Given the description of an element on the screen output the (x, y) to click on. 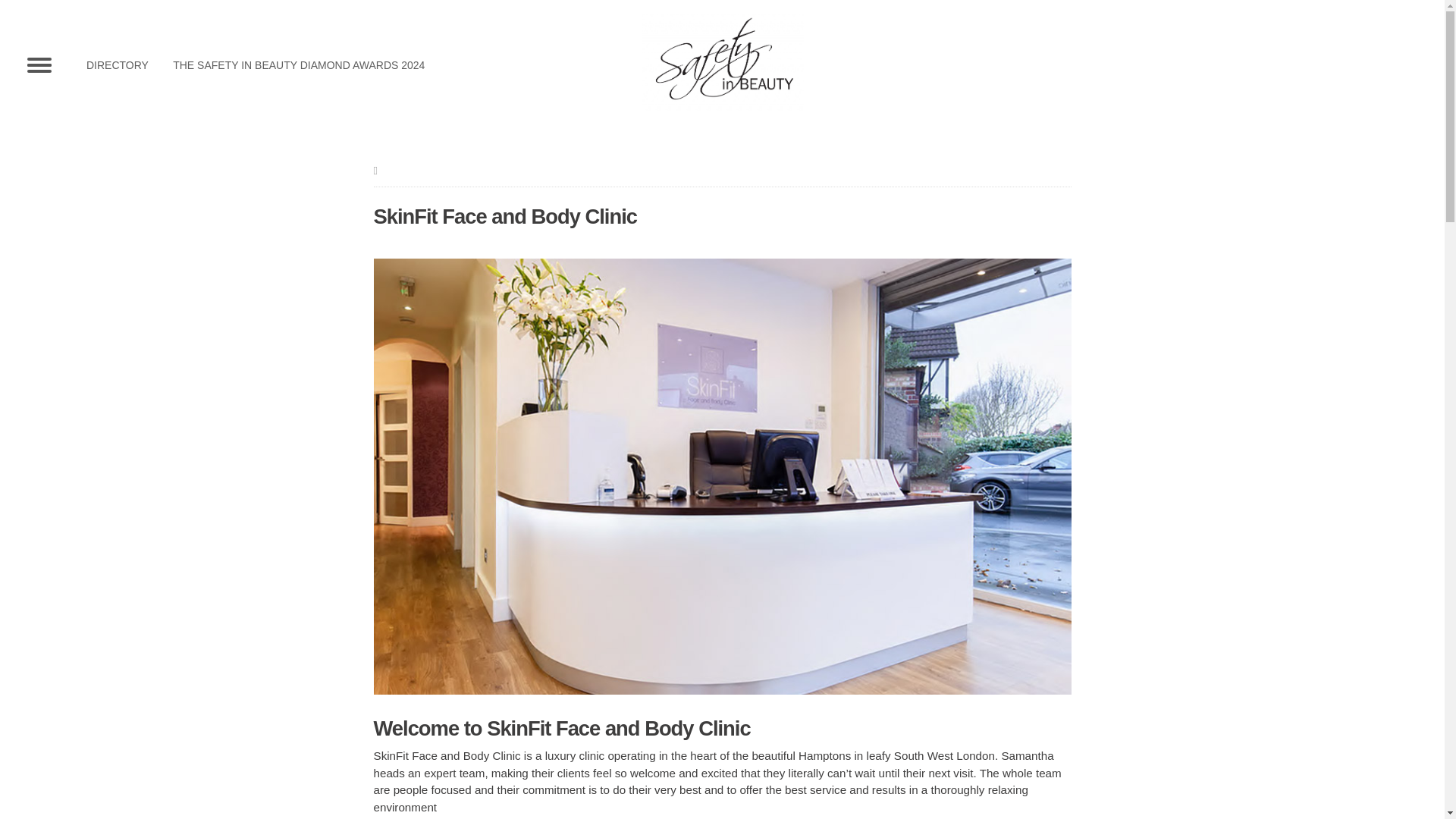
THE SAFETY IN BEAUTY DIAMOND AWARDS 2024 (298, 64)
DIRECTORY (116, 64)
